Given the description of an element on the screen output the (x, y) to click on. 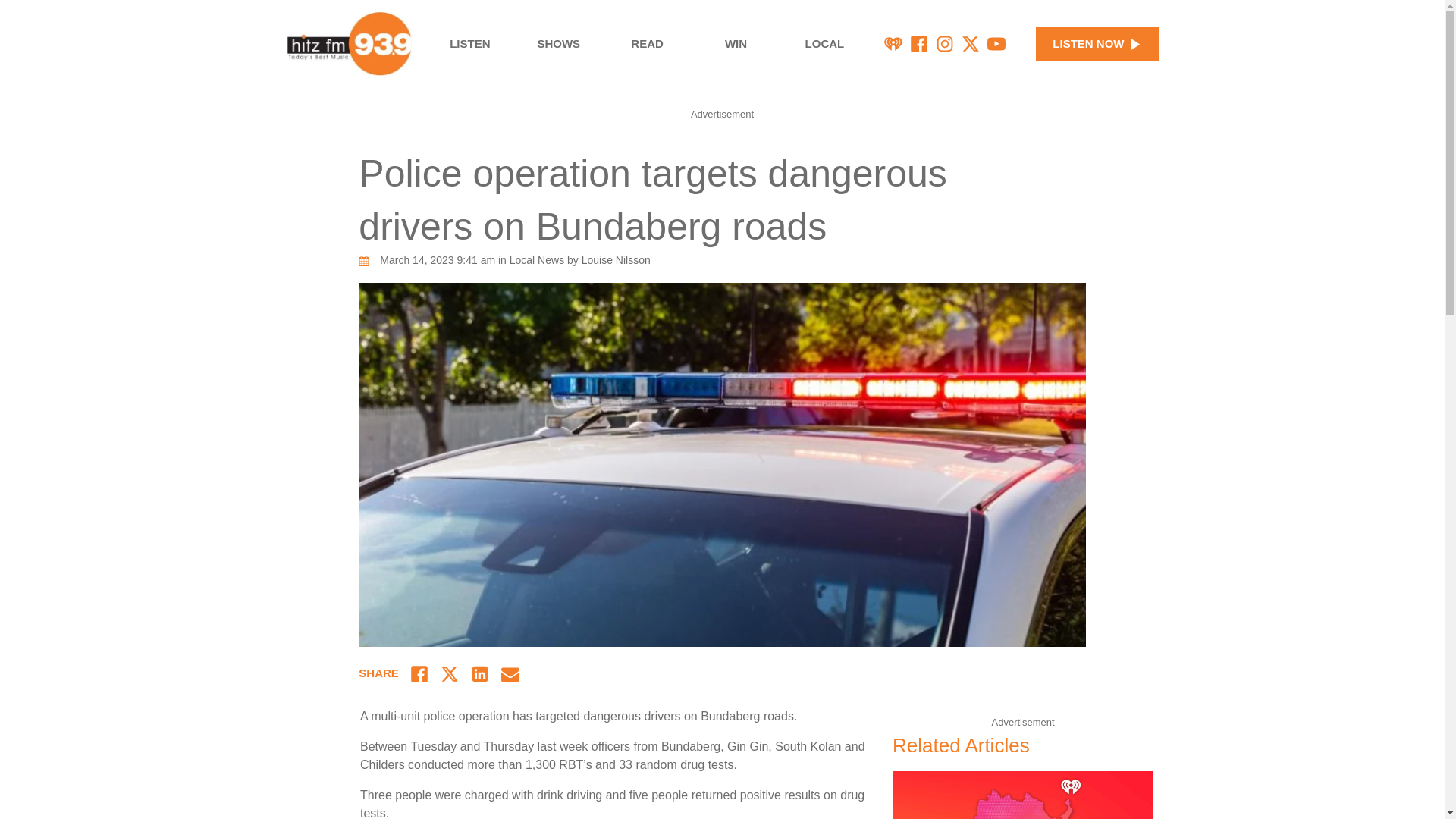
READ (646, 43)
Posts by Louise Nilsson (615, 259)
LOCAL (824, 43)
YouTube (996, 44)
LISTEN (469, 43)
LISTEN NOW (1096, 44)
SHOWS (557, 43)
WIN (735, 43)
Facebook (919, 44)
Instagram (944, 44)
